Given the description of an element on the screen output the (x, y) to click on. 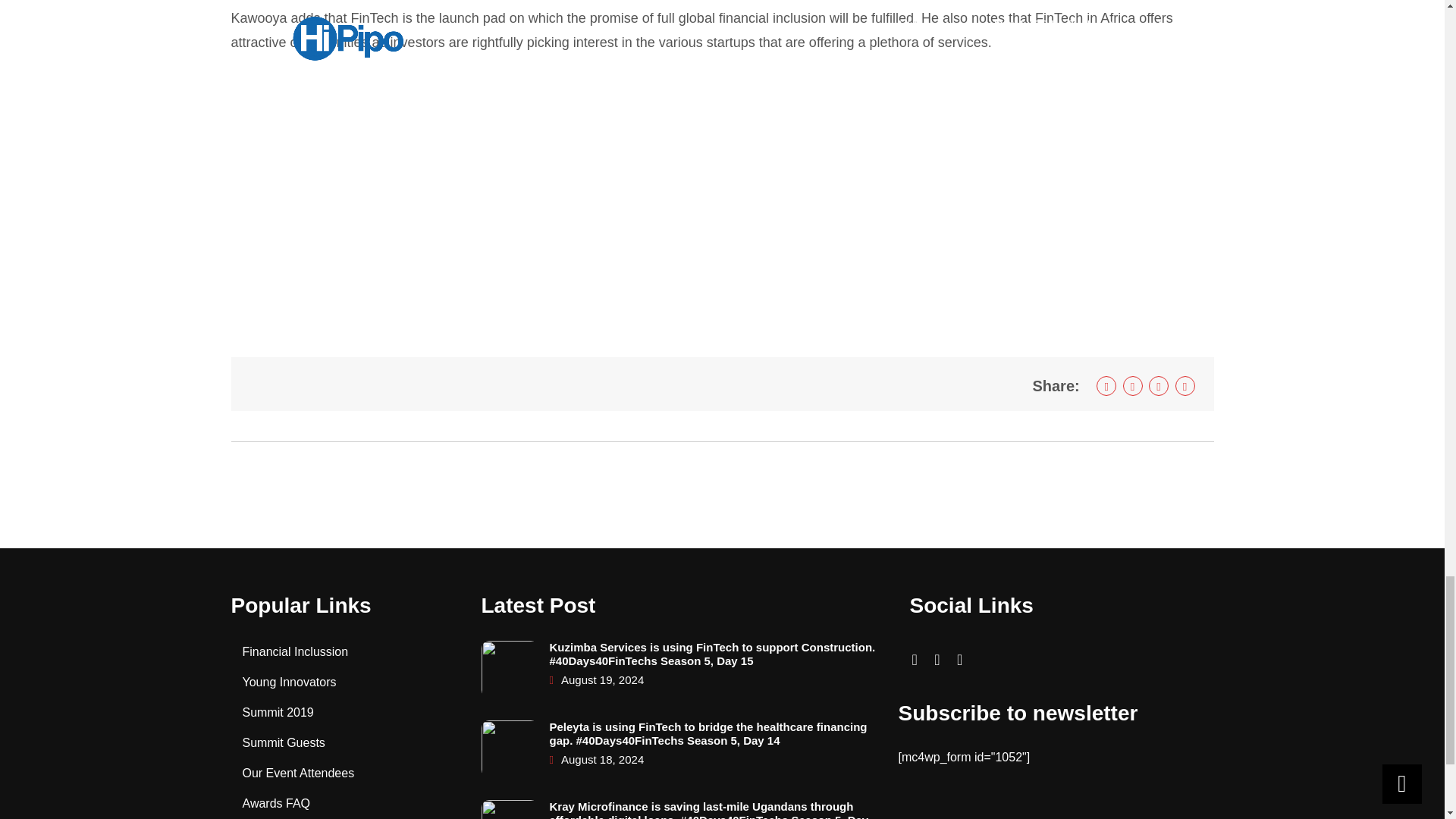
Awards FAQ (277, 802)
Summit 2019 (278, 712)
Our Event Attendees (299, 772)
Our Event Attendees (299, 772)
Summit 2019 (278, 712)
Financial Inclussion (296, 651)
Financial Inclussion (296, 651)
Young Innovators (289, 681)
Young Innovators (289, 681)
Summit Guests (283, 742)
